Given the description of an element on the screen output the (x, y) to click on. 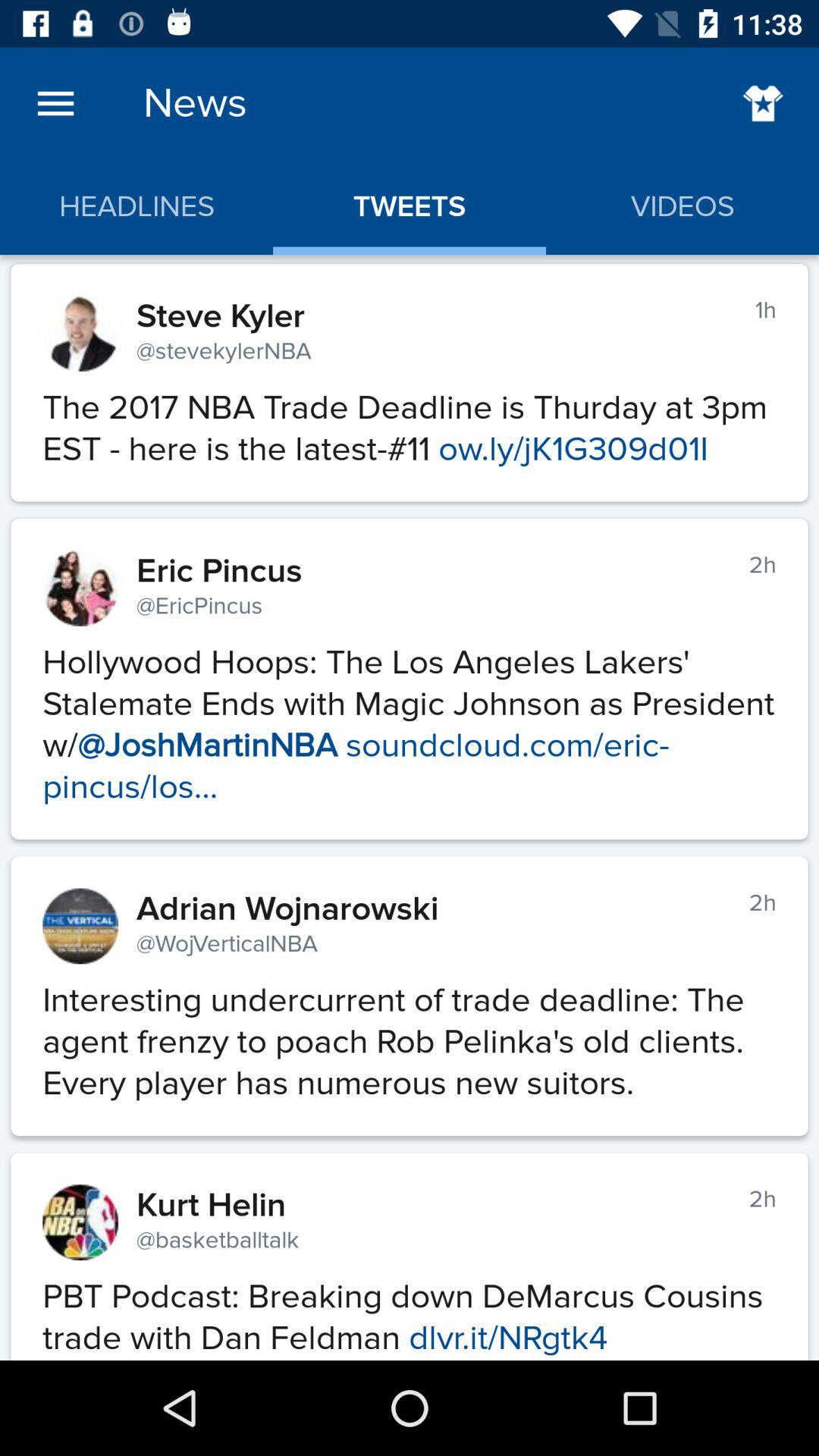
click to go to the home page (763, 103)
